Given the description of an element on the screen output the (x, y) to click on. 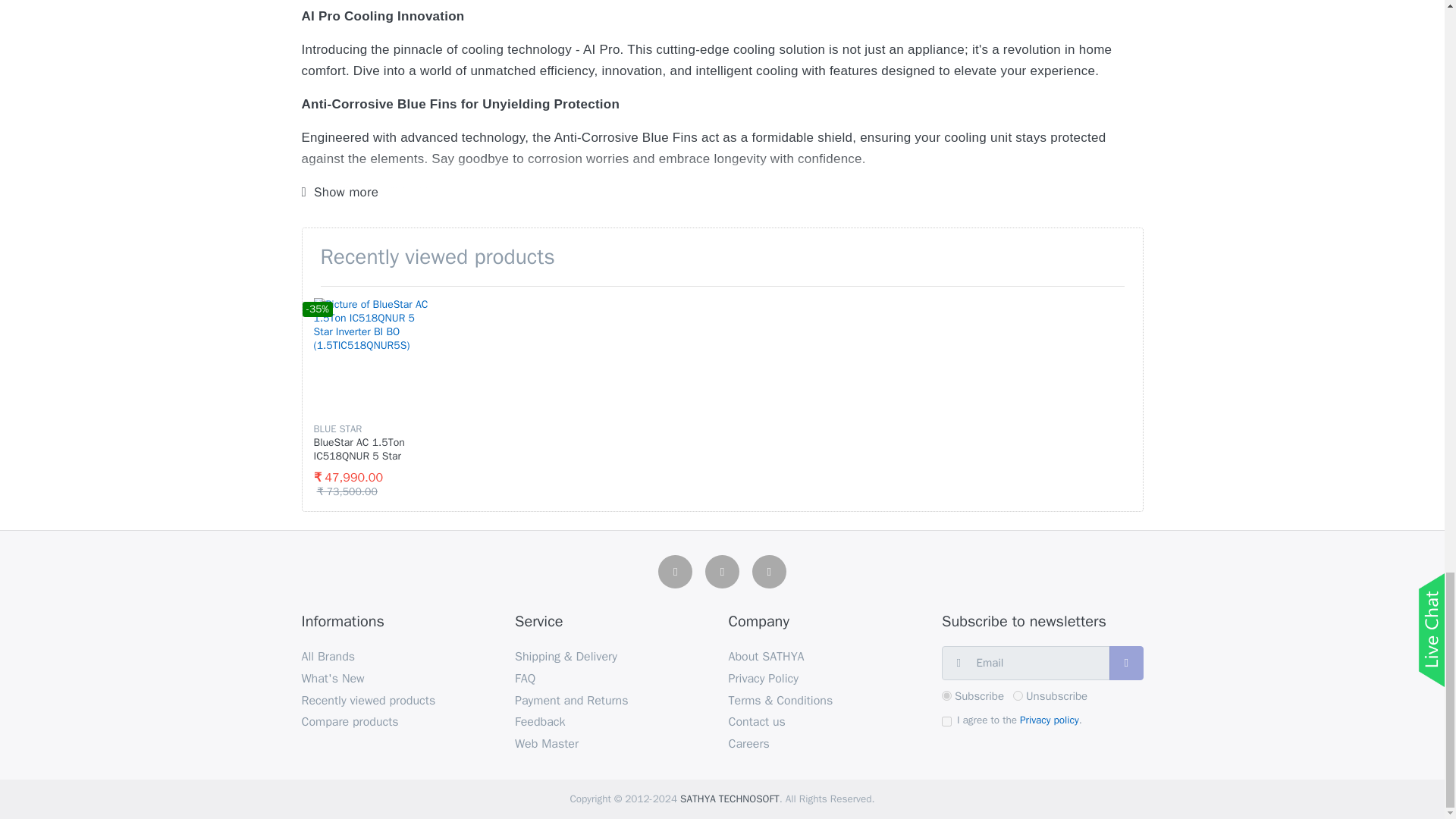
newsletter-unsubscribe (1018, 696)
true (947, 721)
newsletter-subscribe (947, 696)
